Given the description of an element on the screen output the (x, y) to click on. 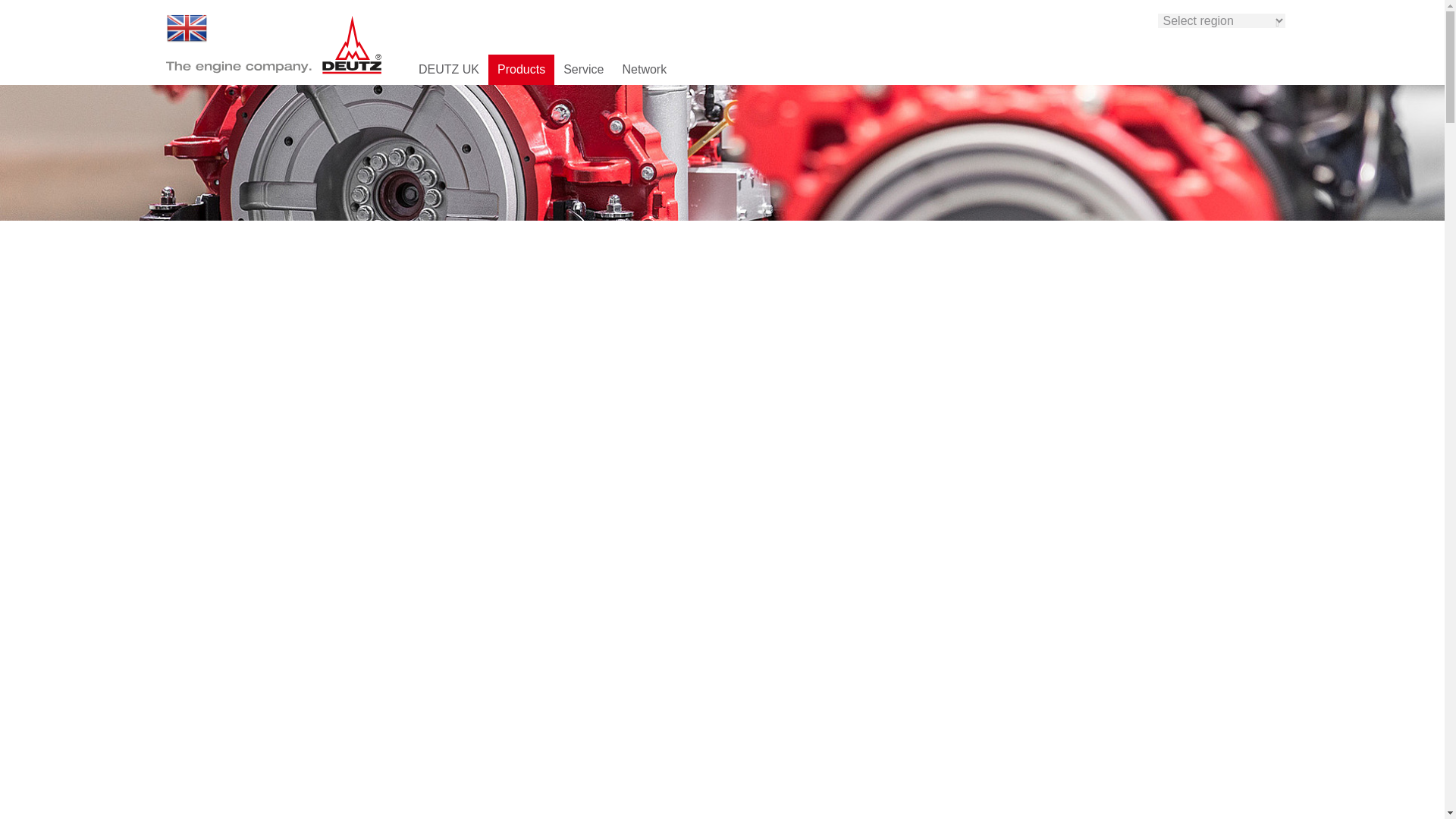
DEUTZ UK (185, 28)
Service (583, 69)
DEUTZ UK (448, 69)
Products (520, 69)
